Given the description of an element on the screen output the (x, y) to click on. 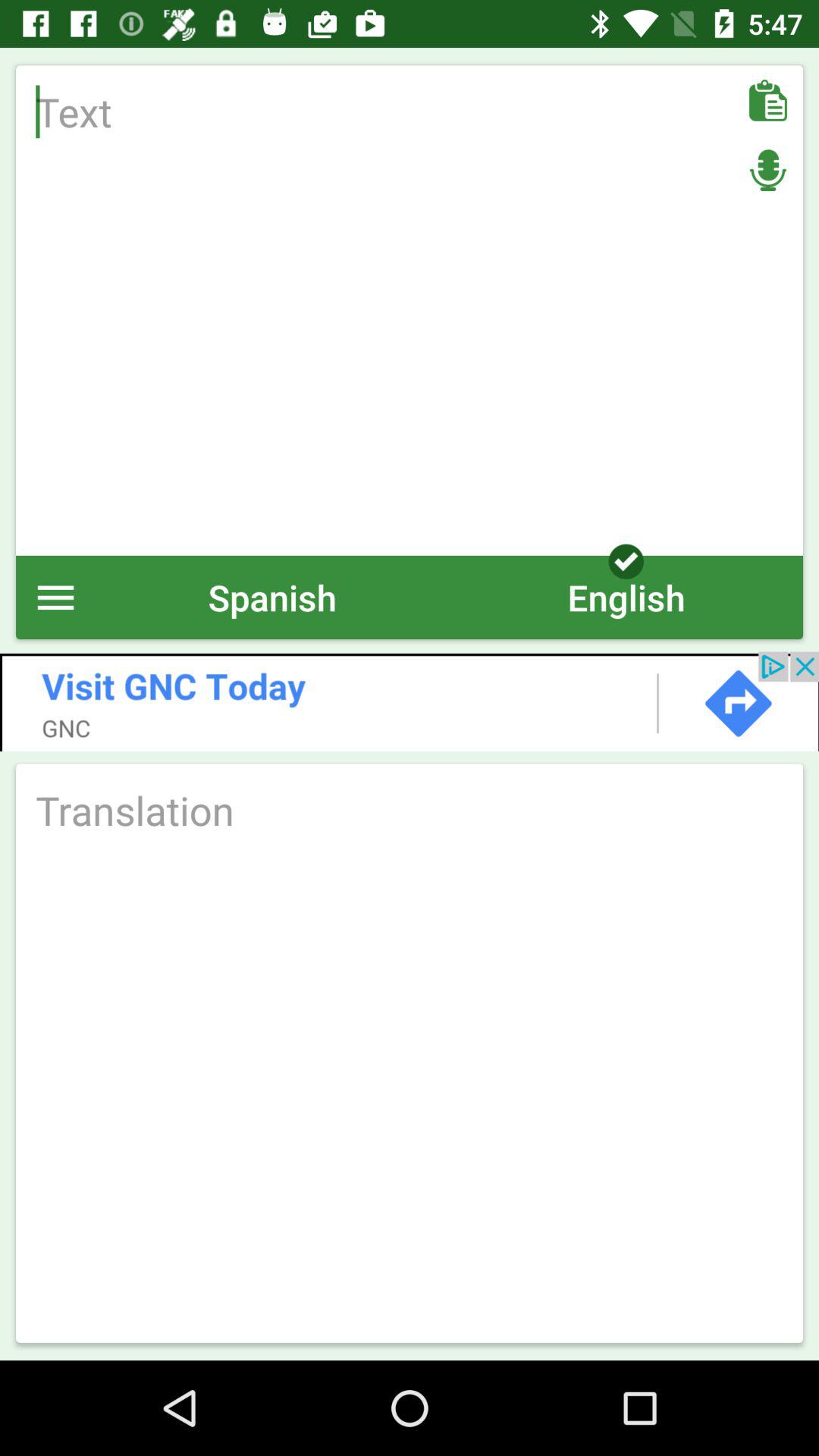
click to enter text (409, 310)
